Given the description of an element on the screen output the (x, y) to click on. 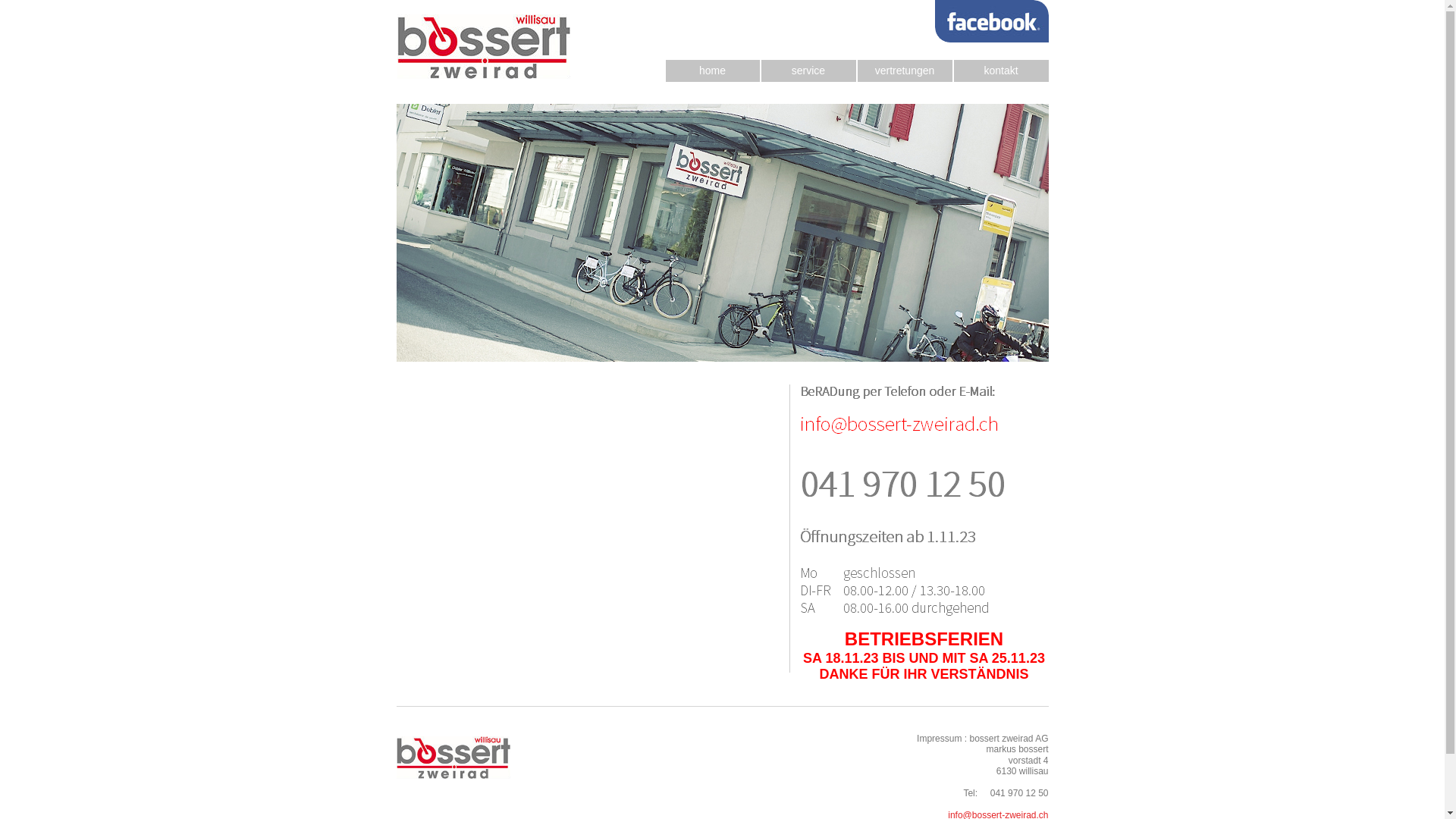
home Element type: text (712, 70)
kontakt Element type: text (1000, 70)
service Element type: text (808, 70)
vertretungen Element type: text (903, 70)
